Given the description of an element on the screen output the (x, y) to click on. 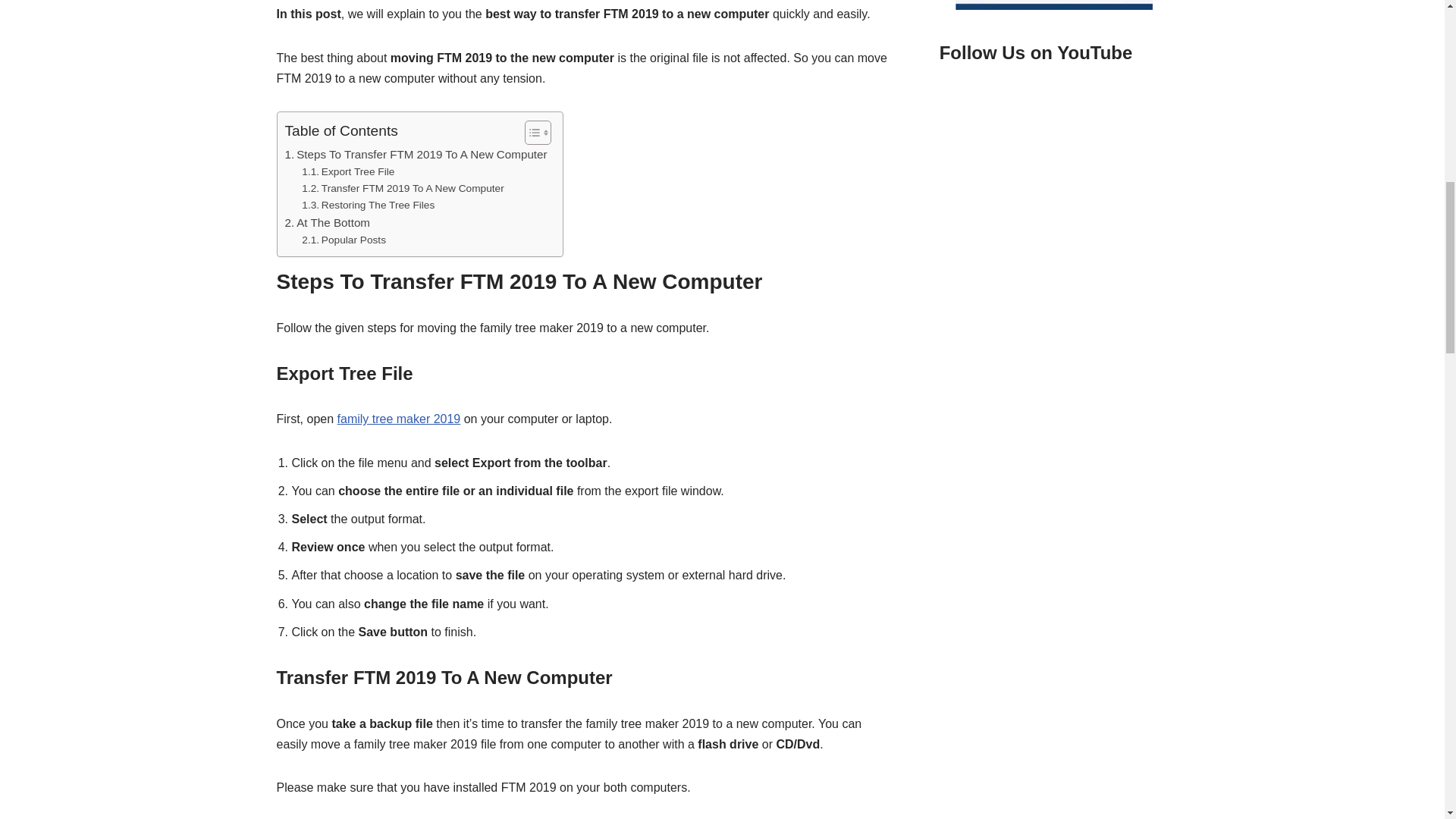
Transfer FTM 2019 To A New Computer (402, 188)
Restoring The Tree Files (367, 205)
family tree maker 2019 (399, 418)
Popular Posts (343, 239)
Transfer FTM 2019 To A New Computer (402, 188)
Steps To Transfer FTM 2019 To A New Computer (416, 154)
Export Tree File (347, 171)
Popular Posts (343, 239)
Steps To Transfer FTM 2019 To A New Computer (416, 154)
Export Tree File (347, 171)
At The Bottom (328, 222)
At The Bottom (328, 222)
Restoring The Tree Files (367, 205)
